Given the description of an element on the screen output the (x, y) to click on. 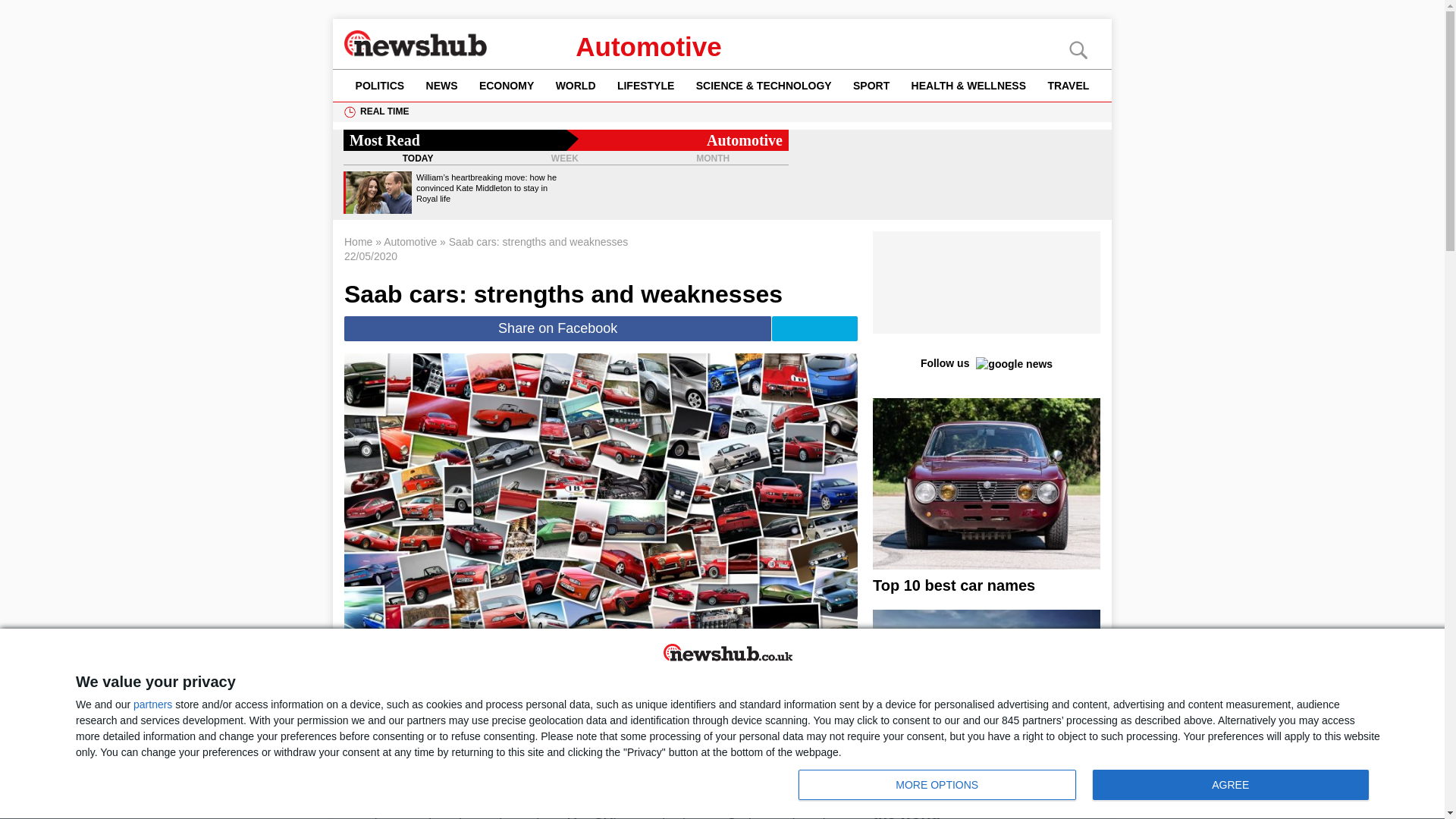
TRAVEL (1067, 85)
MORE OPTIONS (936, 784)
AGREE (1230, 784)
LIFESTYLE (646, 85)
Search (37, 11)
SPORT (872, 85)
Automotive (648, 46)
ECONOMY (506, 85)
WORLD (574, 85)
NEWS (440, 85)
POLITICS (378, 85)
partners (152, 704)
